Given the description of an element on the screen output the (x, y) to click on. 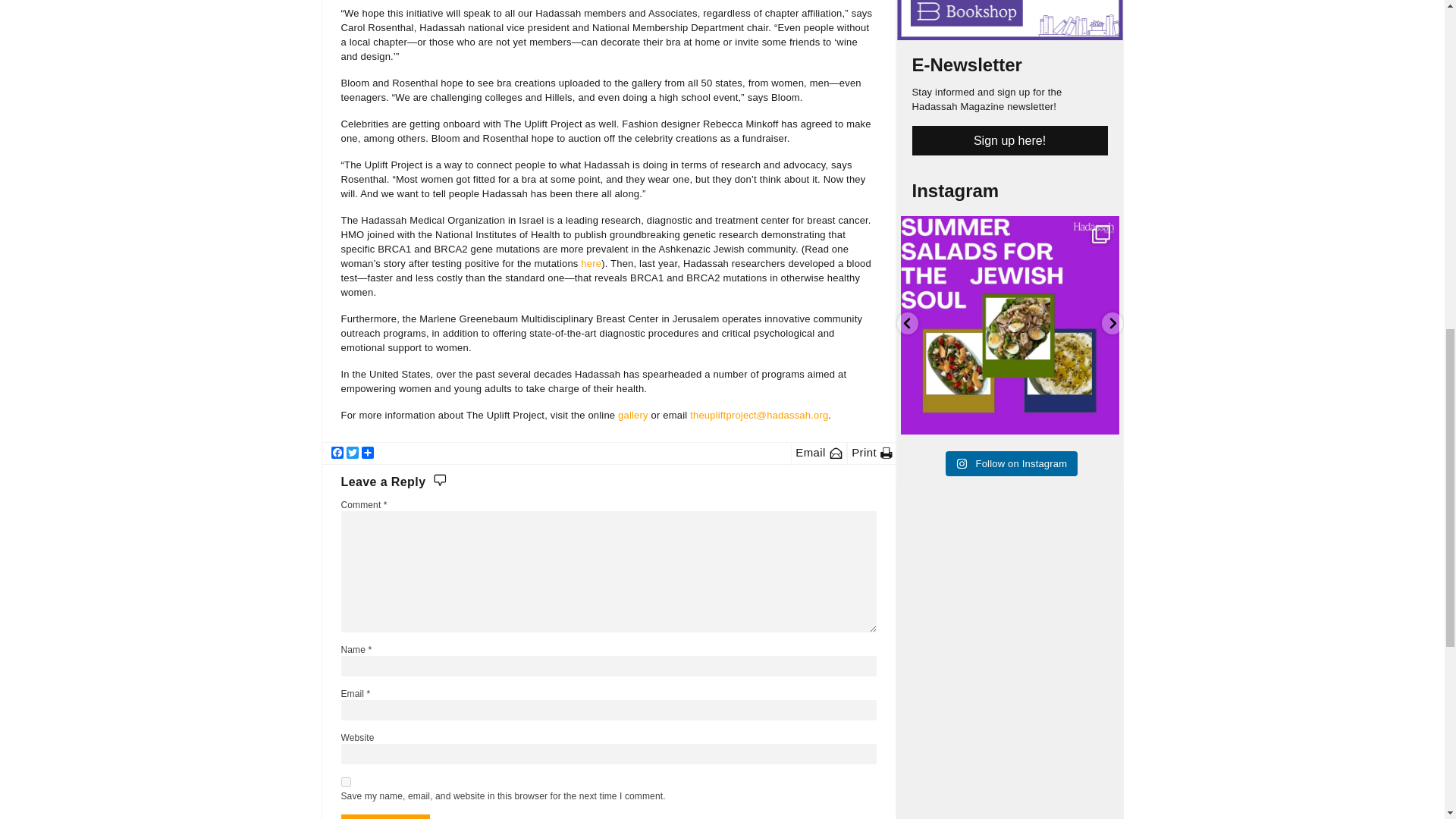
Post Comment (385, 816)
yes (345, 782)
